Given the description of an element on the screen output the (x, y) to click on. 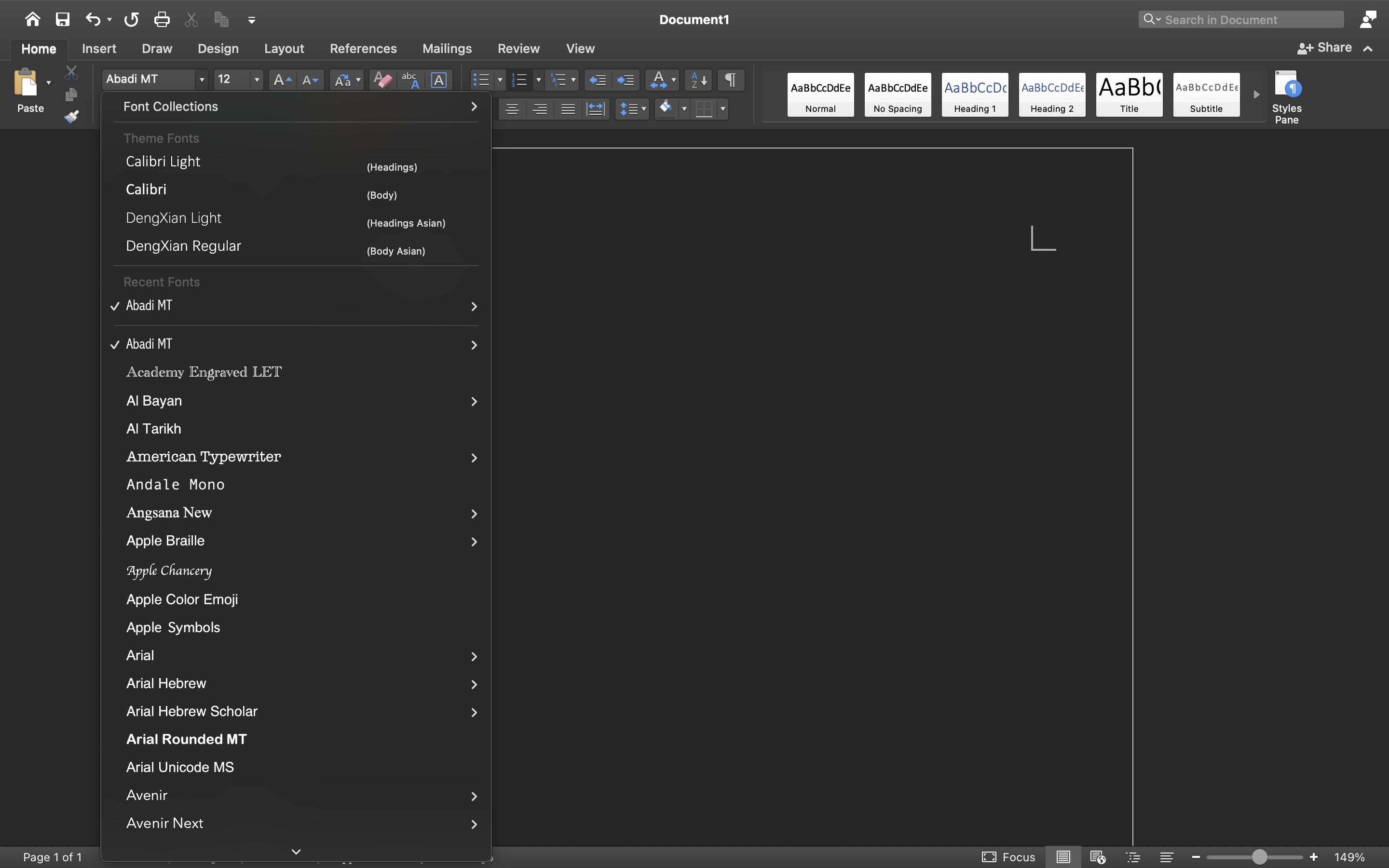
1123.0 Element type: AXSlider (1254, 856)
0 Element type: AXCheckBox (417, 856)
12 Element type: AXComboBox (238, 79)
